Given the description of an element on the screen output the (x, y) to click on. 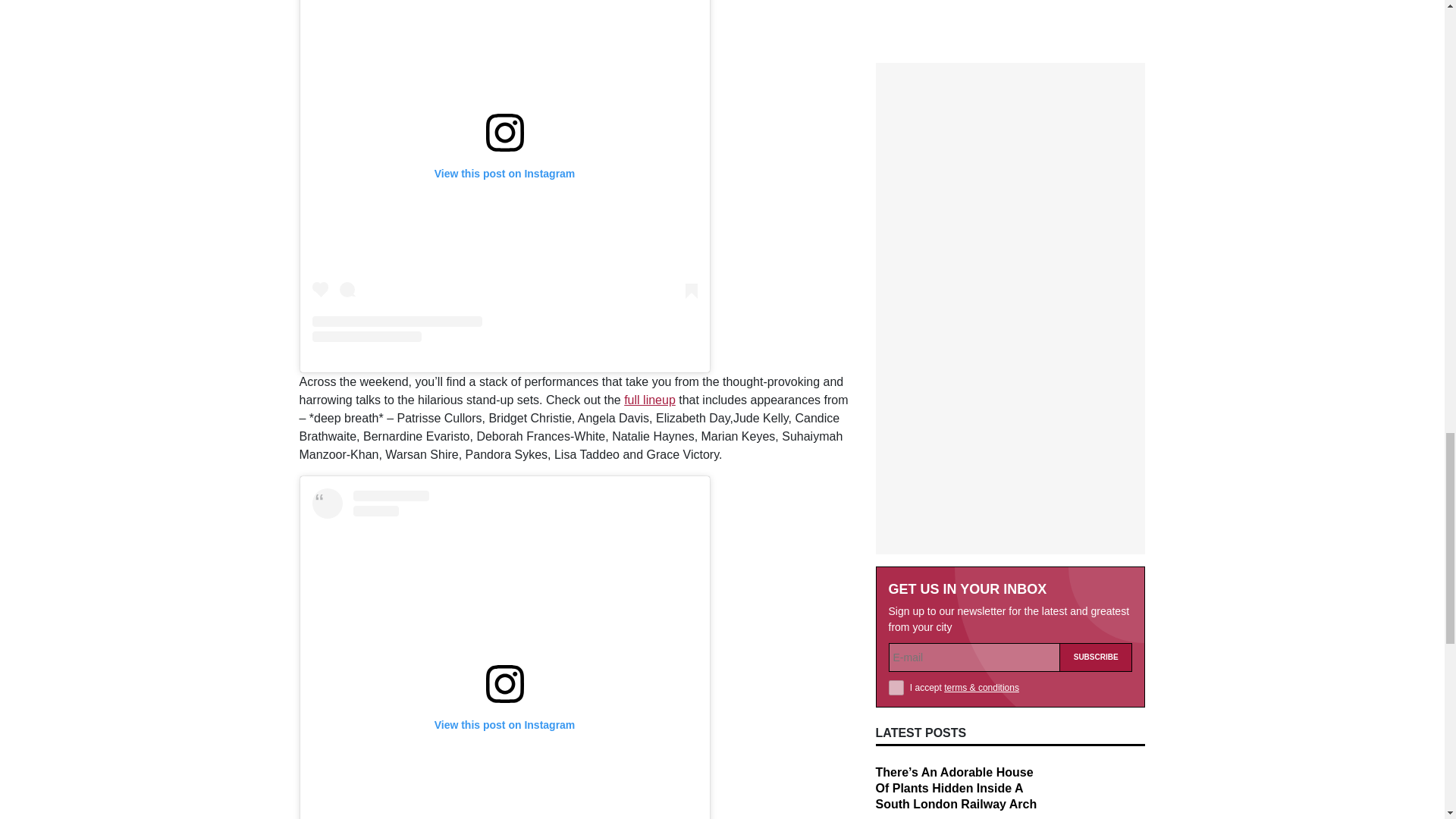
full lineup (649, 399)
View this post on Instagram (505, 171)
View this post on Instagram (505, 653)
